Given the description of an element on the screen output the (x, y) to click on. 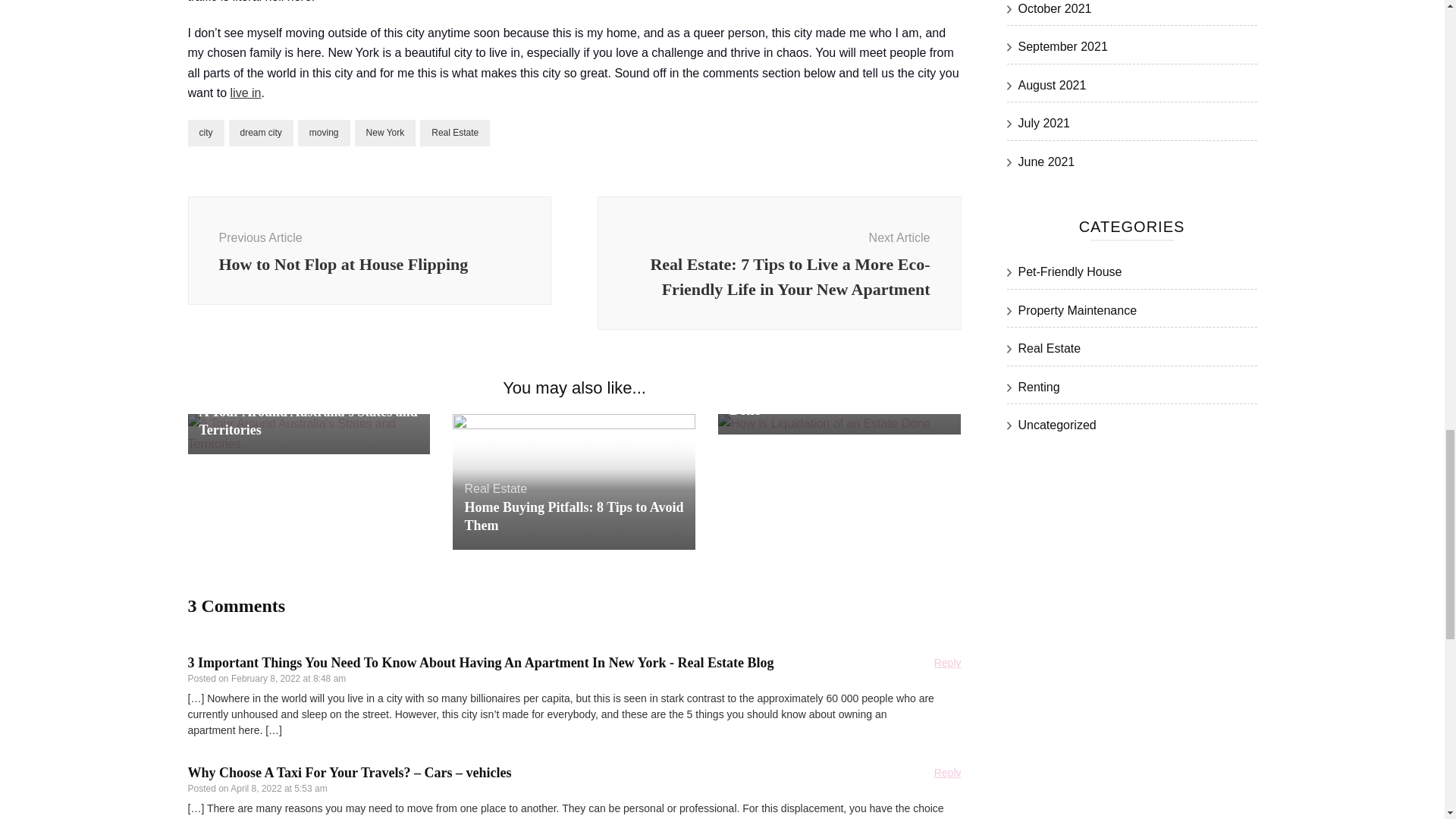
city (205, 132)
April 8, 2022 at 5:53 am (278, 787)
New York (385, 132)
Home Buying Pitfalls: 8 Tips to Avoid Them (573, 516)
moving (324, 132)
How Is Liquidation of an Estate Done (822, 400)
live in (246, 92)
dream city (369, 250)
Real Estate (261, 132)
Reply (454, 132)
Real Estate (947, 662)
February 8, 2022 at 8:48 am (495, 488)
